Given the description of an element on the screen output the (x, y) to click on. 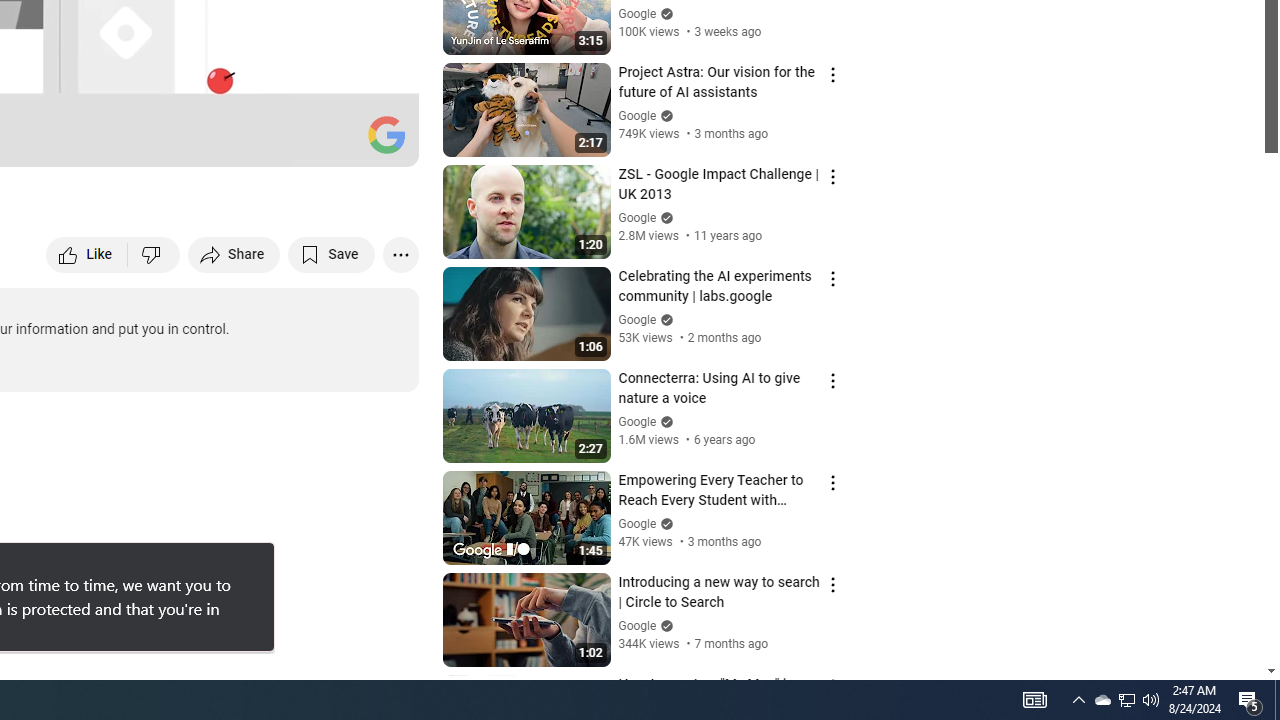
Subtitles/closed captions unavailable (190, 142)
Dislike this video (154, 254)
Channel watermark (386, 134)
Save to playlist (331, 254)
Channel watermark (386, 134)
More actions (399, 254)
Full screen (f) (382, 142)
